Given the description of an element on the screen output the (x, y) to click on. 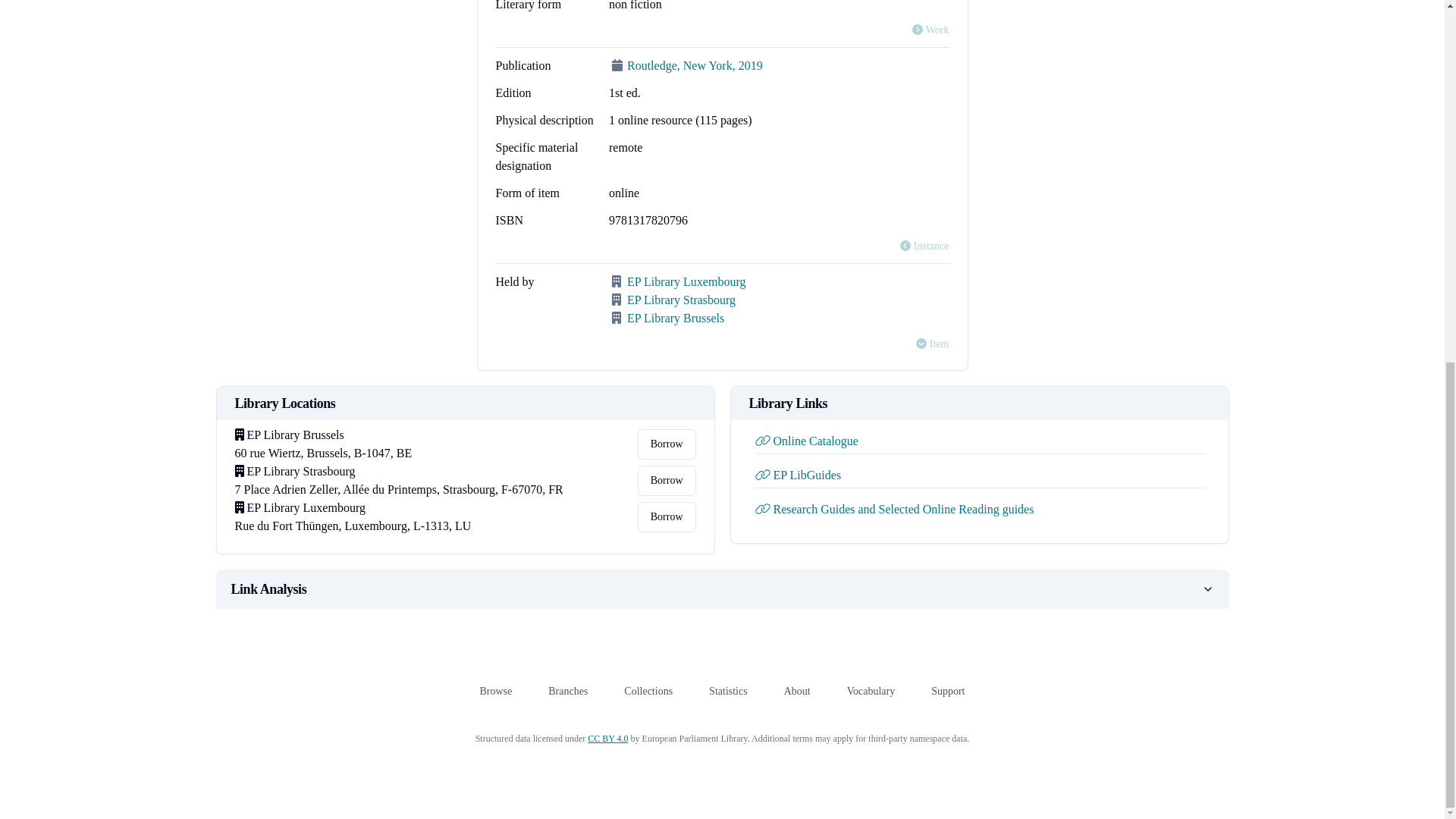
Instance (924, 246)
Support (947, 690)
Collections (648, 690)
Research Guides and Selected Online Reading guides (894, 508)
EP Library Luxembourg (686, 281)
EP Library Brussels (675, 318)
EP Library Strasbourg (681, 299)
Borrow (666, 444)
Branches (568, 690)
Browse (495, 690)
Routledge, New York, 2019 (694, 65)
Work (930, 29)
Item (932, 344)
Borrow (666, 517)
Online Catalogue (807, 440)
